Given the description of an element on the screen output the (x, y) to click on. 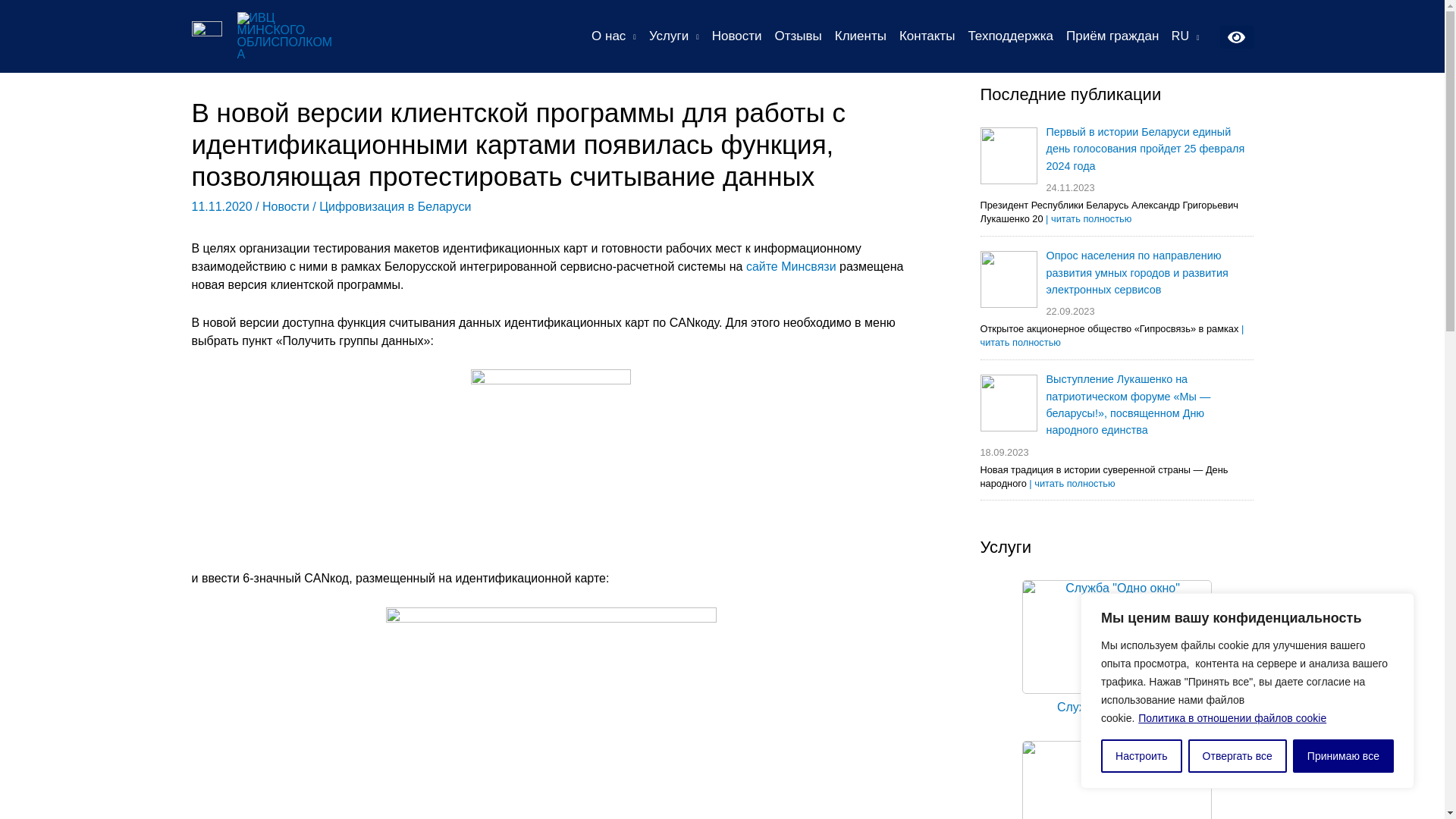
RU Element type: text (1185, 35)
